Given the description of an element on the screen output the (x, y) to click on. 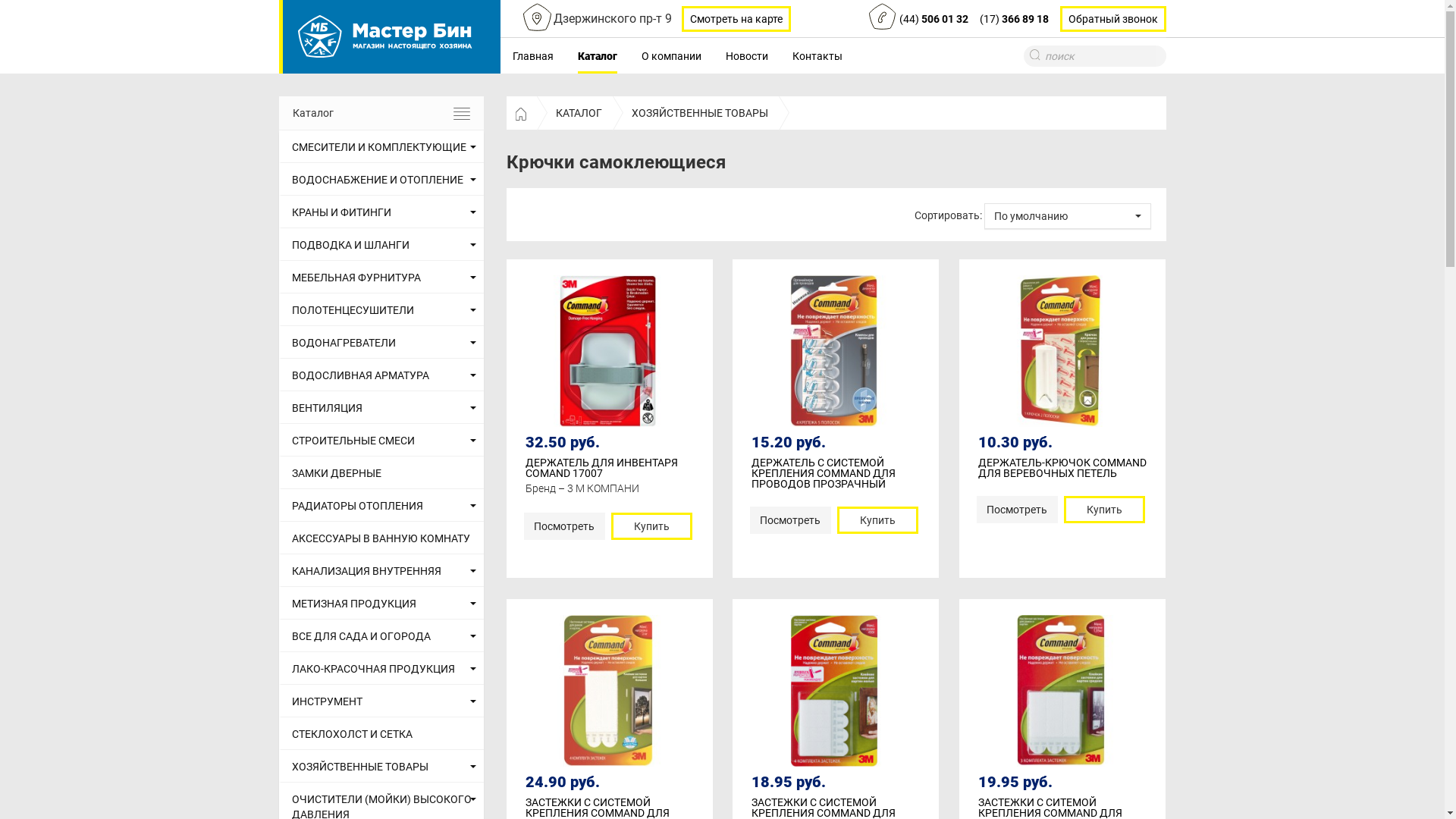
(44) 506 01 32 Element type: text (933, 18)
(17) 366 89 18 Element type: text (1013, 18)
